Given the description of an element on the screen output the (x, y) to click on. 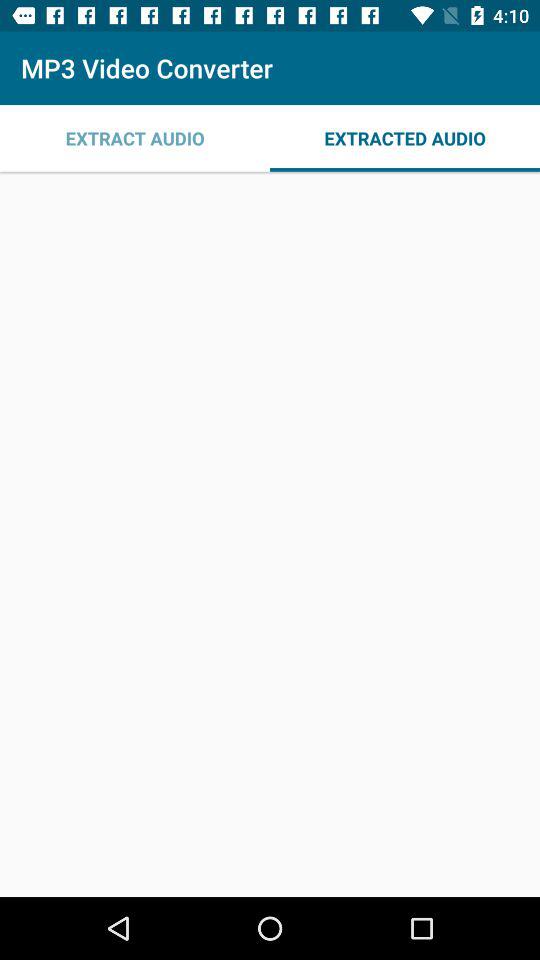
scroll until extract audio app (135, 138)
